Given the description of an element on the screen output the (x, y) to click on. 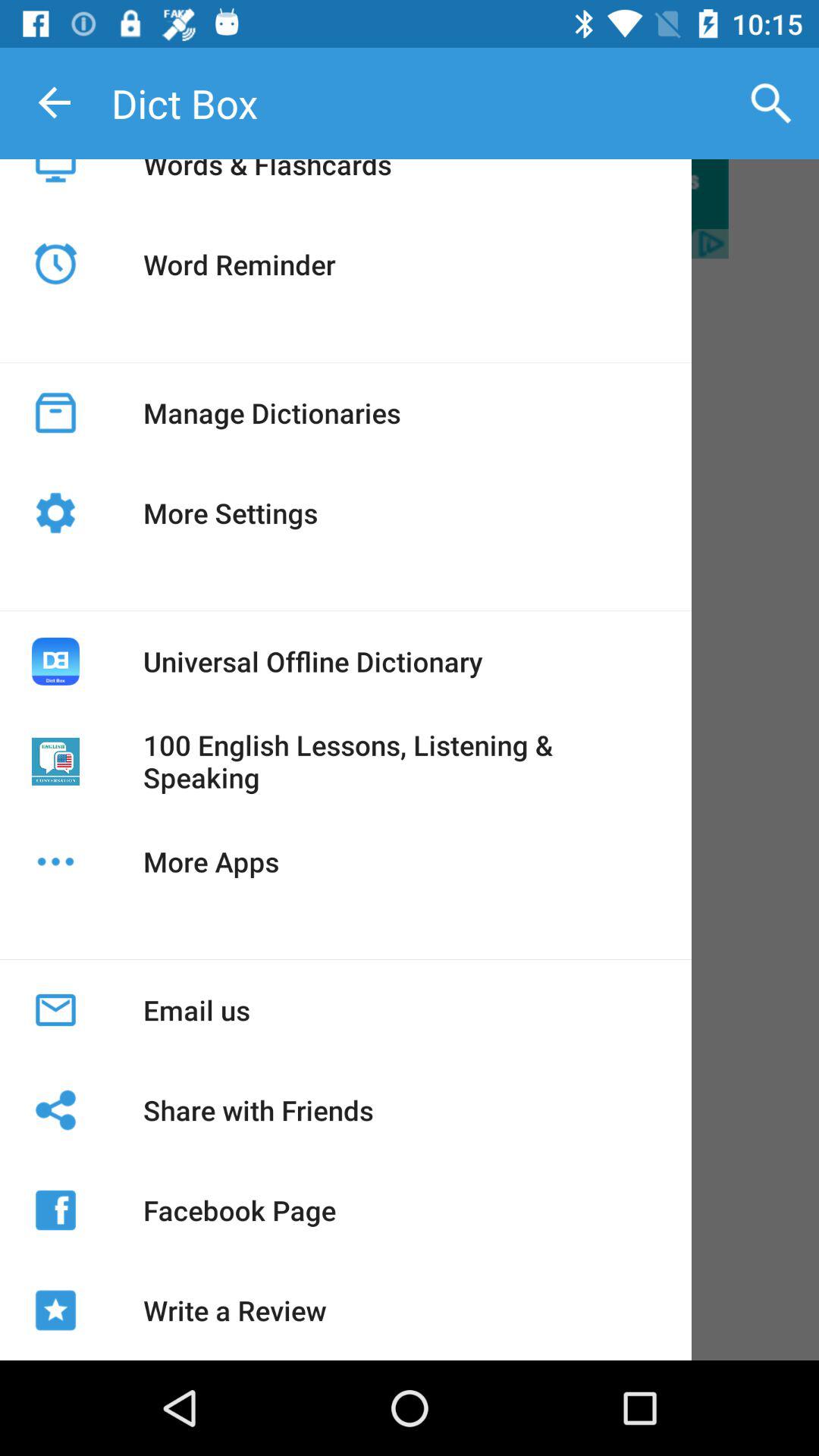
launch the email us app (196, 1009)
